Given the description of an element on the screen output the (x, y) to click on. 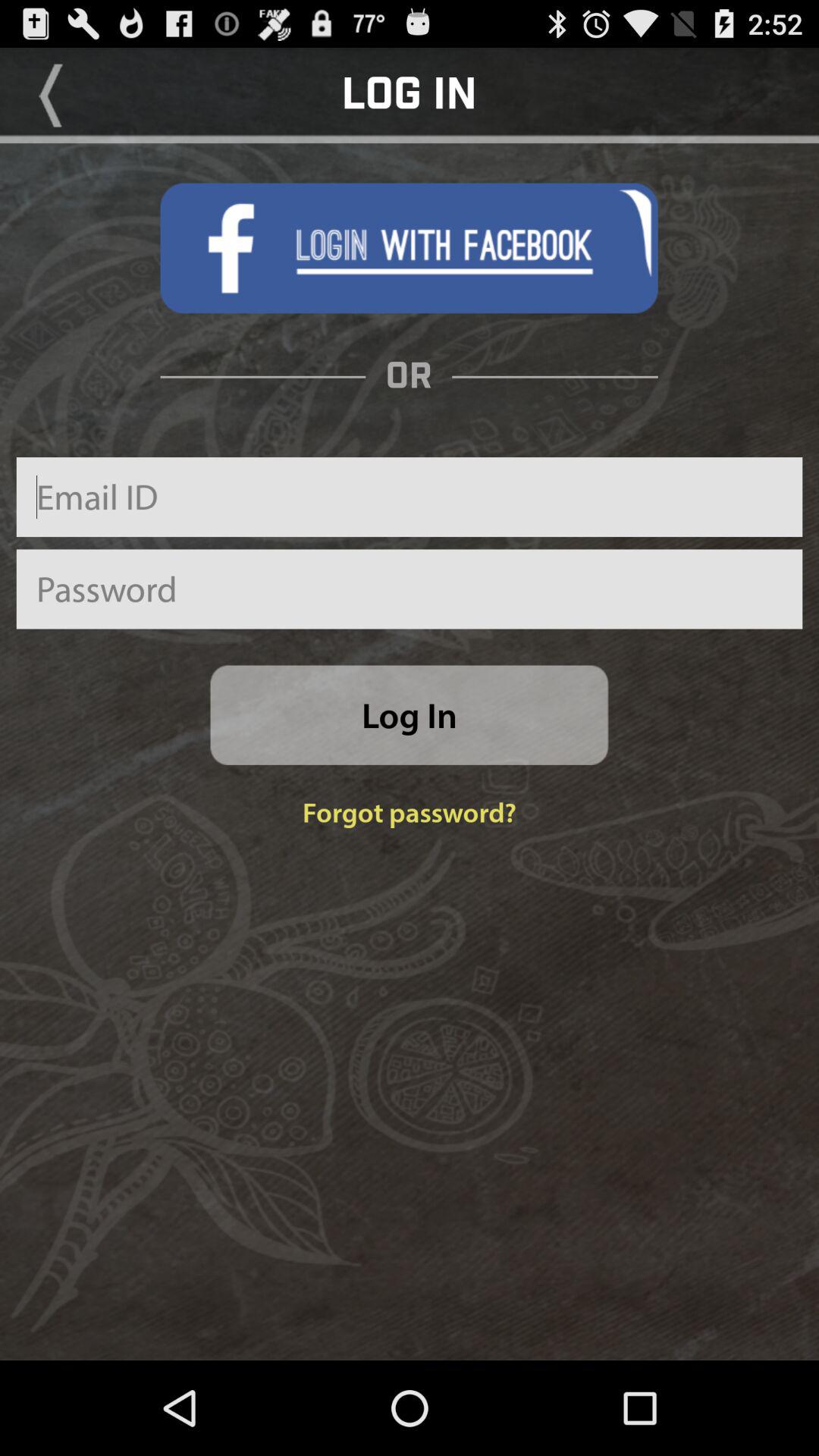
textbox to enter password (409, 589)
